Given the description of an element on the screen output the (x, y) to click on. 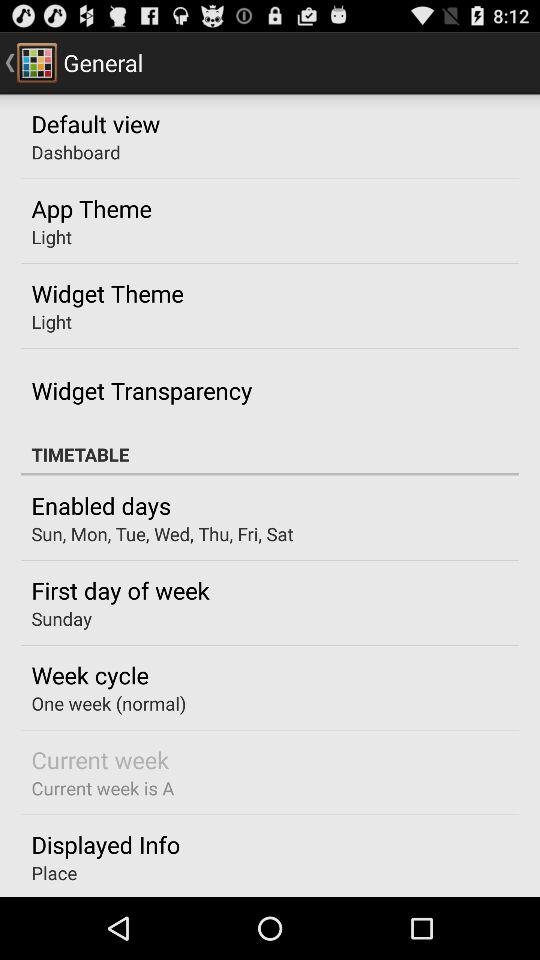
select widget theme icon (107, 293)
